Given the description of an element on the screen output the (x, y) to click on. 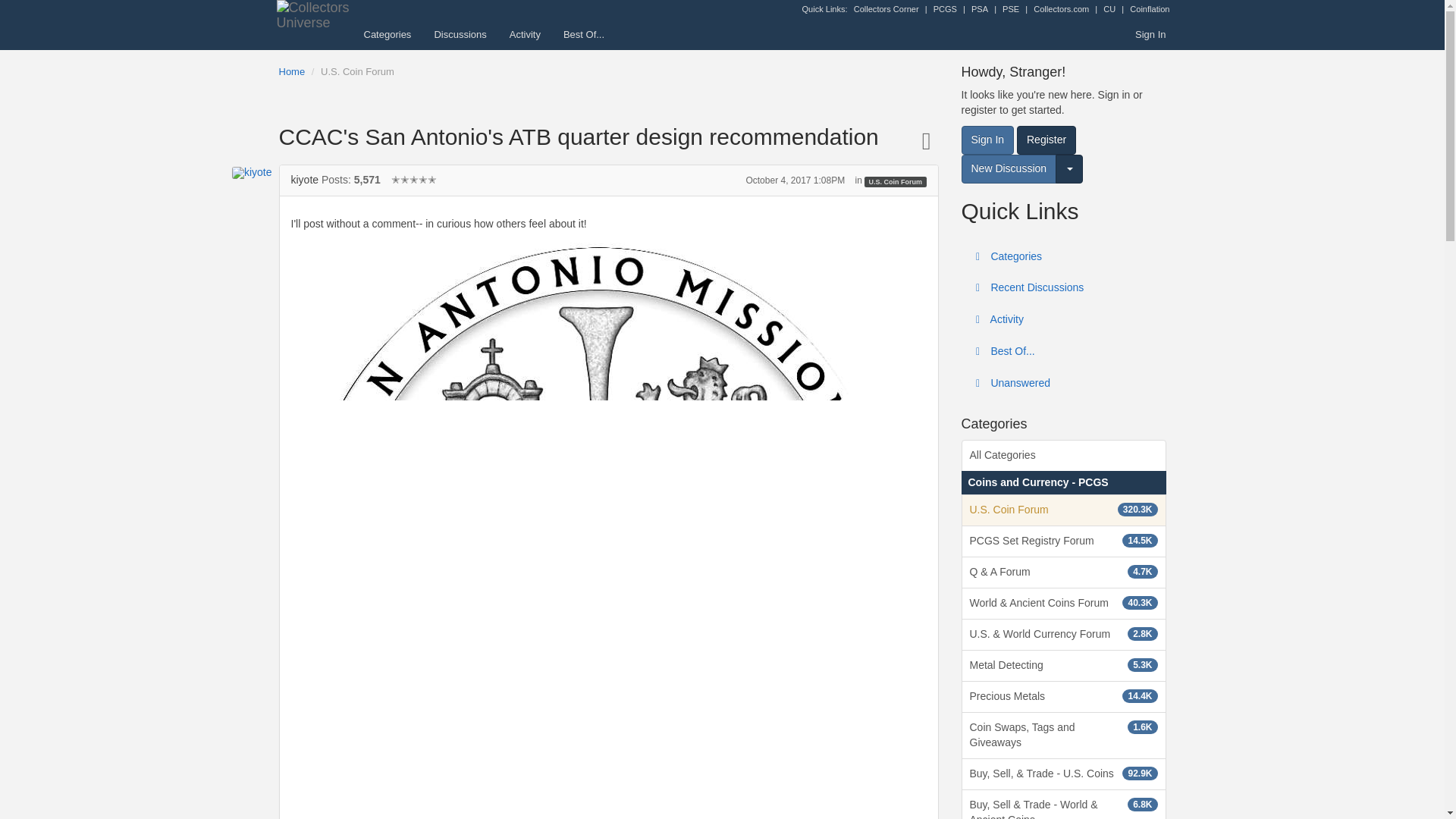
Collectors.com (1061, 8)
Categories (387, 34)
October 4, 2017 1:08PM (794, 180)
Collectors Corner (885, 8)
PSE (1011, 8)
October 4, 2017 1:08PM (794, 180)
Discussions (459, 34)
Home (292, 71)
PSA (979, 8)
PSA - Professional SportsCard Authenticators (979, 8)
Sign In (1150, 34)
PCGS - Professional Coin Grading (944, 8)
U.S. Coin Forum (357, 71)
CU (1109, 8)
Best Of... (583, 34)
